Given the description of an element on the screen output the (x, y) to click on. 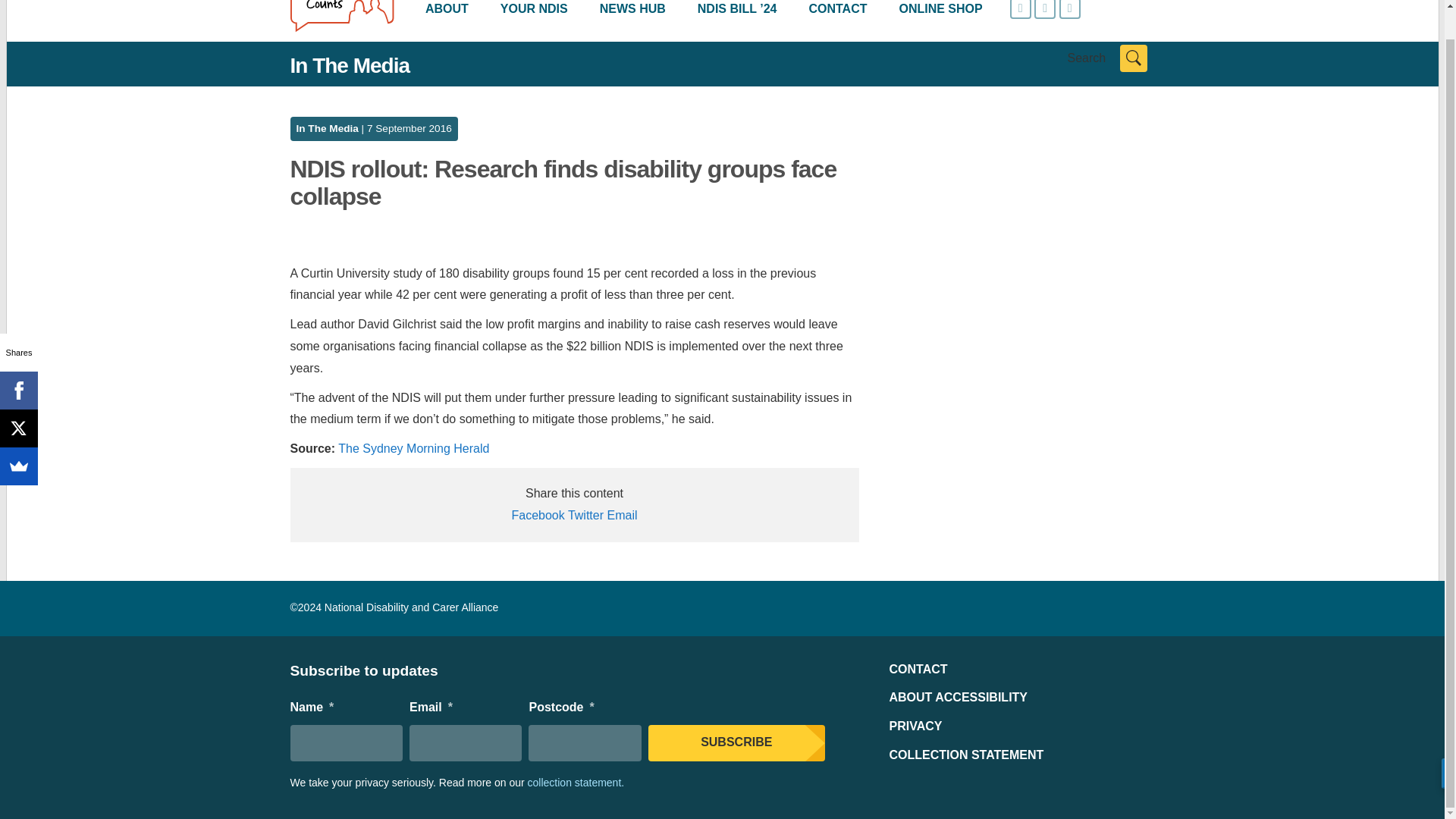
ONLINE SHOP (940, 12)
Share via Facebook (537, 514)
SumoMe (18, 435)
ABOUT (446, 12)
ABOUT ACCESSIBILITY (957, 697)
In The Media (326, 128)
CONTACT (837, 12)
Share via Email (622, 514)
Subscribe (736, 742)
Facebook (537, 514)
X (18, 397)
Facebook (18, 360)
The Sydney Morning Herald (413, 448)
YOUR NDIS (534, 12)
Email (622, 514)
